Given the description of an element on the screen output the (x, y) to click on. 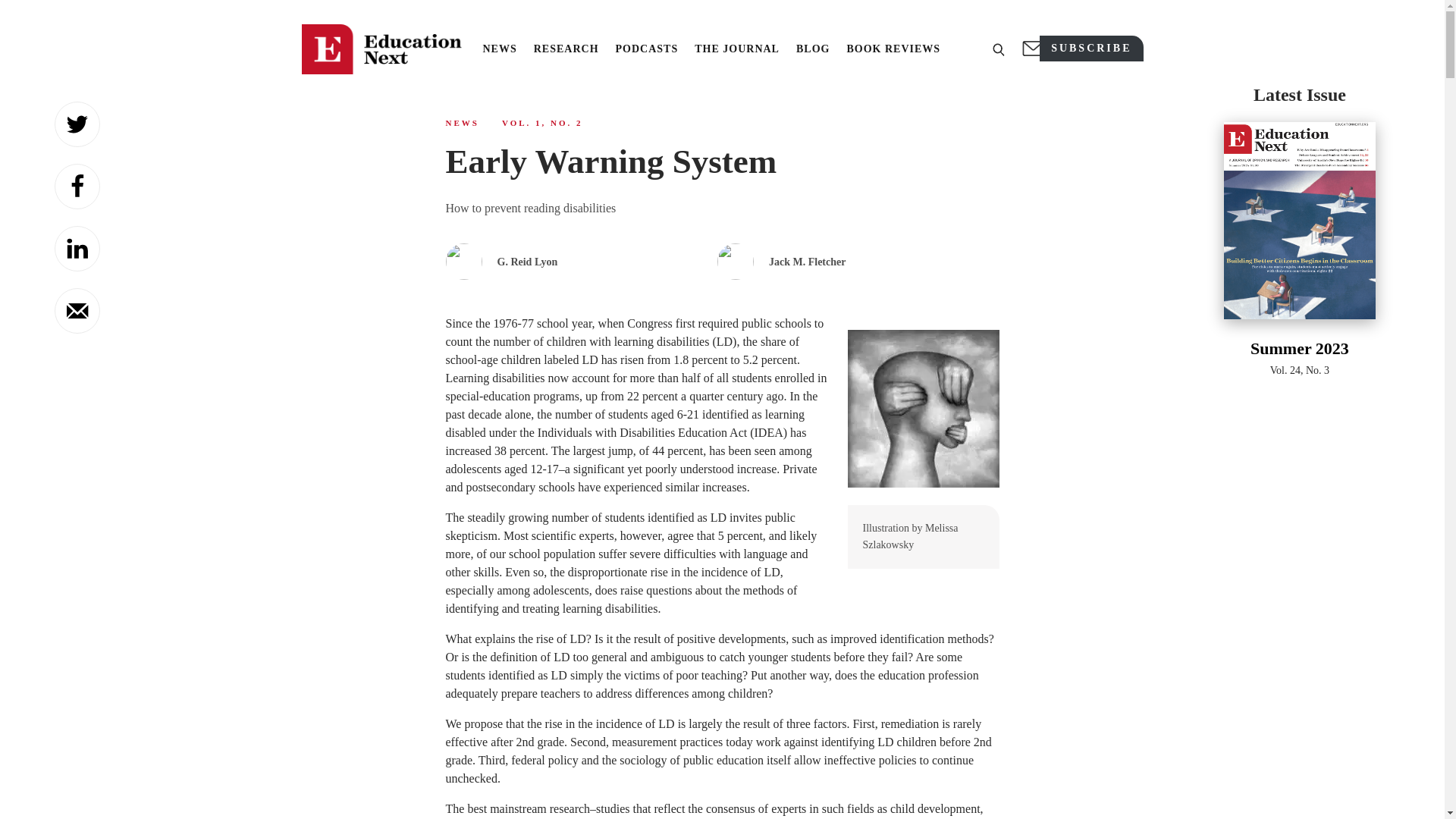
Share on Twitter (77, 124)
THE JOURNAL (736, 49)
PODCASTS (646, 49)
Share on Facebook (77, 186)
BOOK REVIEWS (892, 49)
RESEARCH (566, 49)
BLOG (812, 49)
Share on LinkedIn (77, 248)
NEWS (462, 122)
NEWS (498, 49)
Send over email (77, 310)
VOL. 1, NO. 2 (542, 122)
SUBSCRIBE (1090, 48)
